Given the description of an element on the screen output the (x, y) to click on. 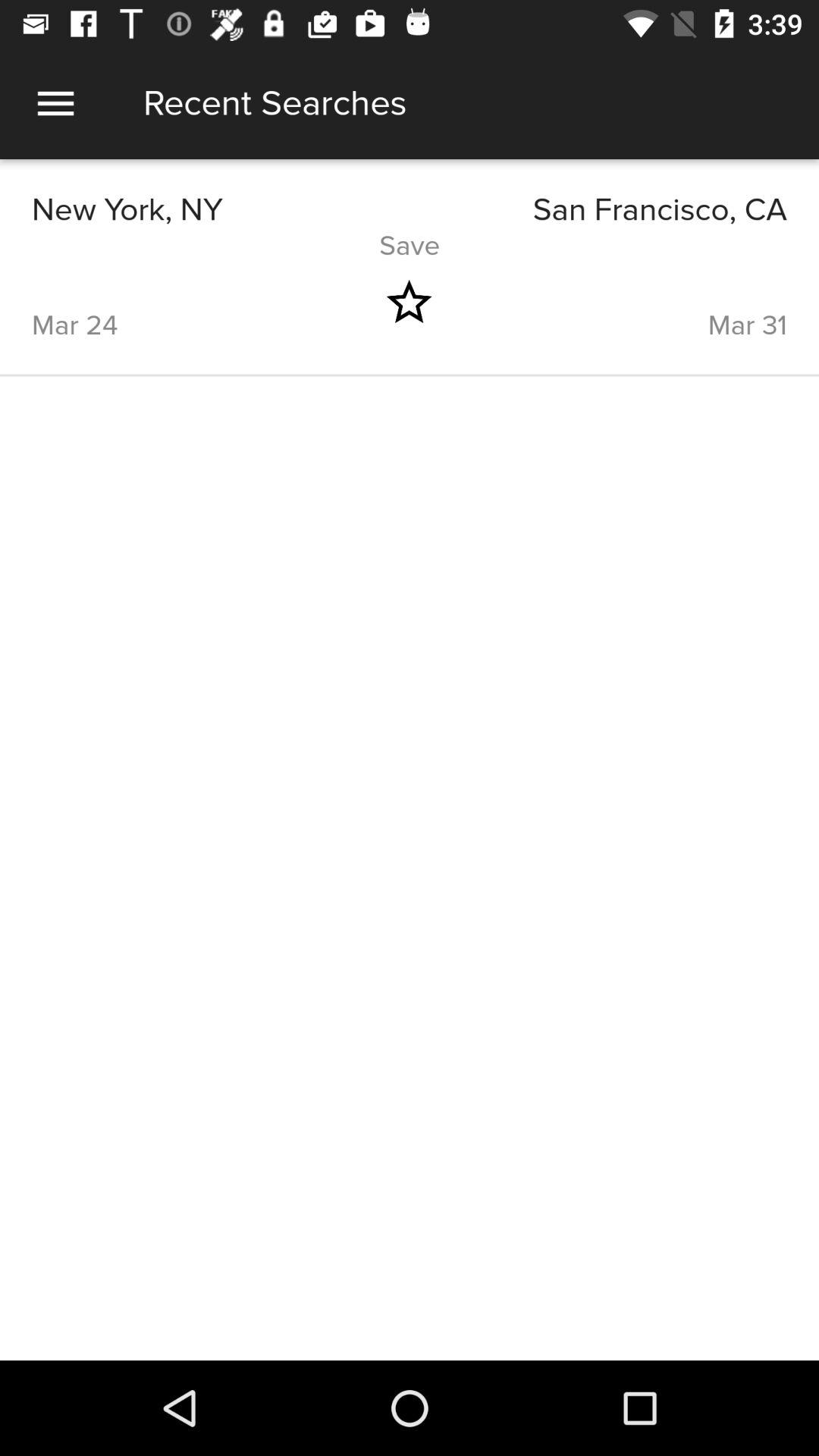
click the item to the right of the mar 24 item (408, 302)
